Given the description of an element on the screen output the (x, y) to click on. 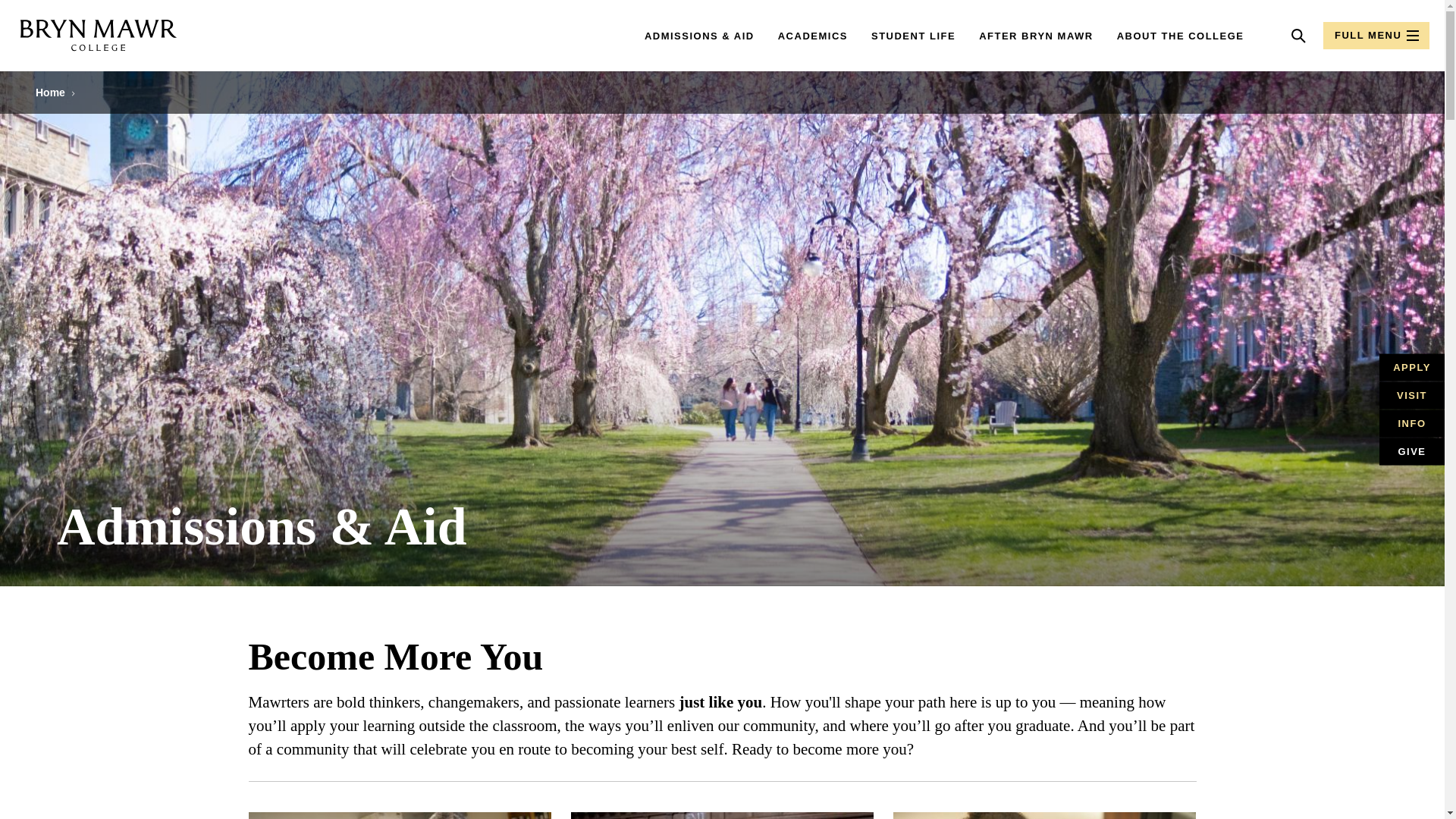
FULL MENU (1376, 35)
ACADEMICS (812, 35)
INFO (1411, 422)
VISIT (1411, 395)
GIVE (1411, 451)
submit (1243, 36)
APPLY (1411, 367)
Home (49, 92)
AFTER BRYN MAWR (1035, 35)
Search (1297, 35)
STUDENT LIFE (912, 35)
ABOUT THE COLLEGE (1180, 35)
